Given the description of an element on the screen output the (x, y) to click on. 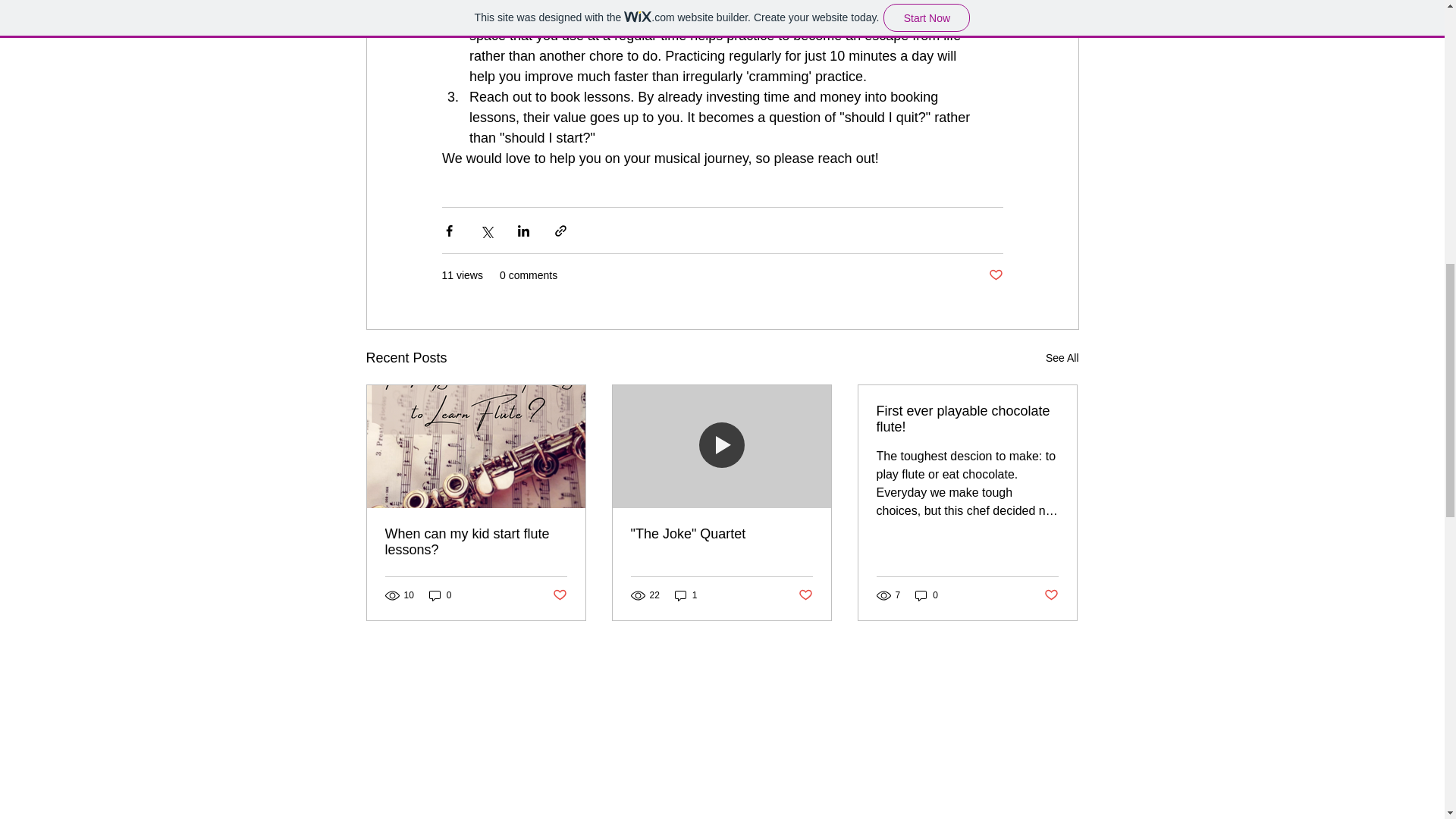
0 (440, 595)
0 (926, 595)
Post not marked as liked (804, 595)
Post not marked as liked (1050, 595)
1 (685, 595)
When can my kid start flute lessons? (476, 541)
See All (1061, 358)
Post not marked as liked (995, 275)
First ever playable chocolate flute! (967, 418)
Post not marked as liked (558, 595)
